Given the description of an element on the screen output the (x, y) to click on. 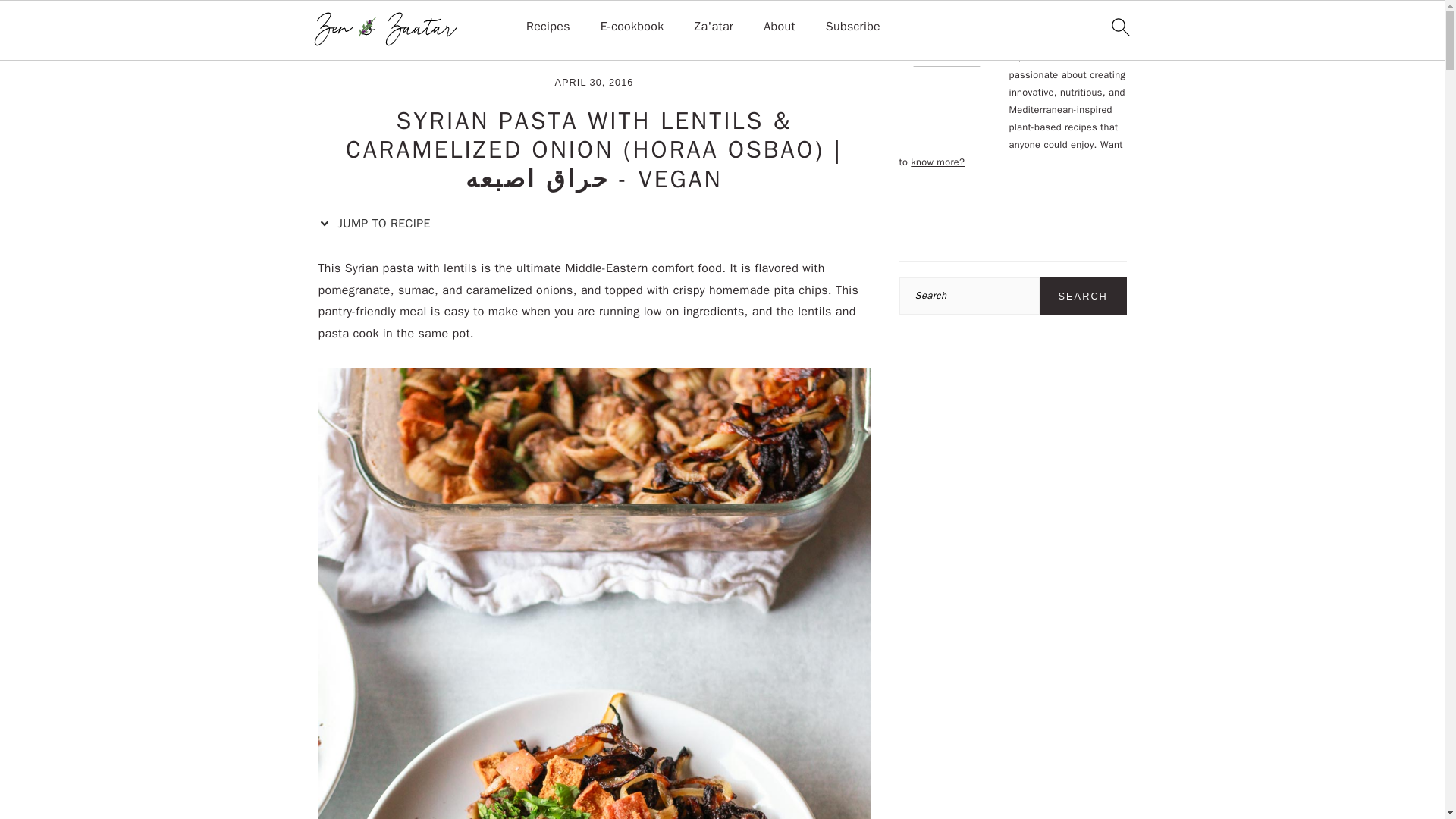
Search (1082, 295)
E-cookbook (631, 26)
Za'atar (713, 26)
Recipes (384, 50)
About (778, 26)
Subscribe (852, 26)
Search (1082, 295)
search icon (1119, 26)
Recipes (547, 26)
